Given the description of an element on the screen output the (x, y) to click on. 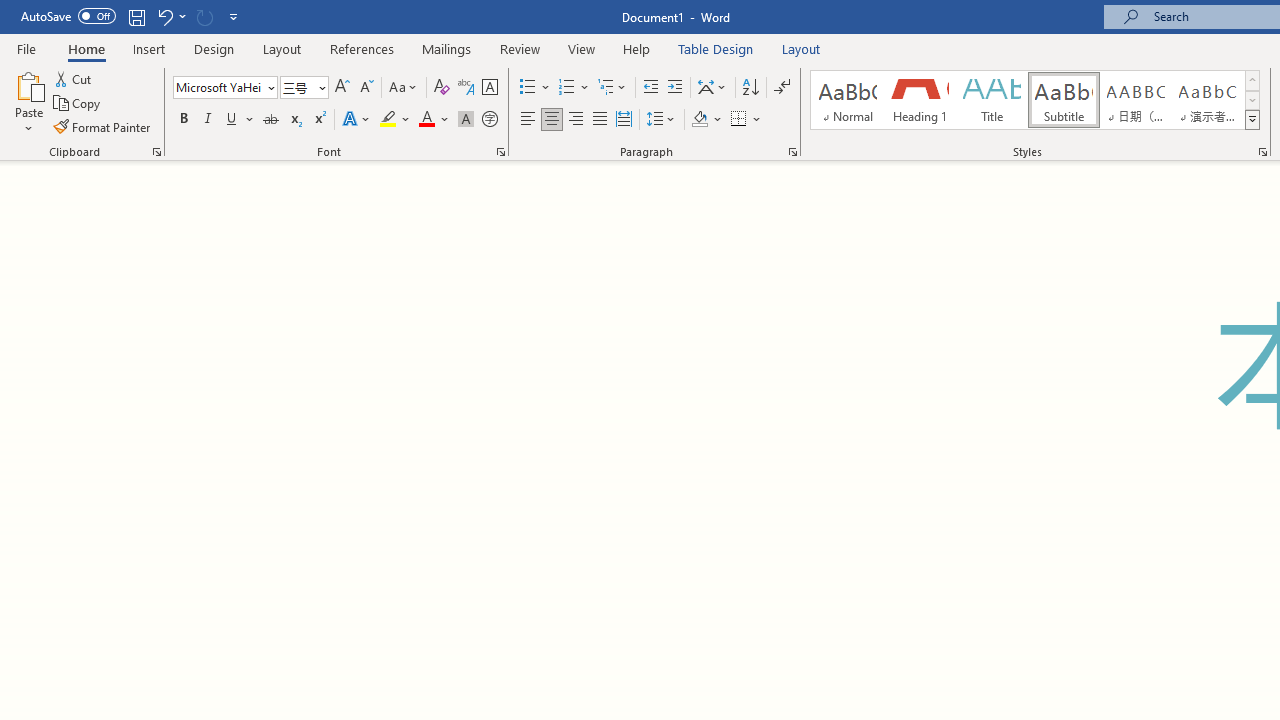
Layout (801, 48)
Table Design (715, 48)
Clear Formatting (442, 87)
Undo Apply Quick Style (170, 15)
Subtitle (1063, 100)
Align Right (575, 119)
Align Left (527, 119)
Underline (232, 119)
Asian Layout (712, 87)
Undo Apply Quick Style (164, 15)
Review (520, 48)
